Given the description of an element on the screen output the (x, y) to click on. 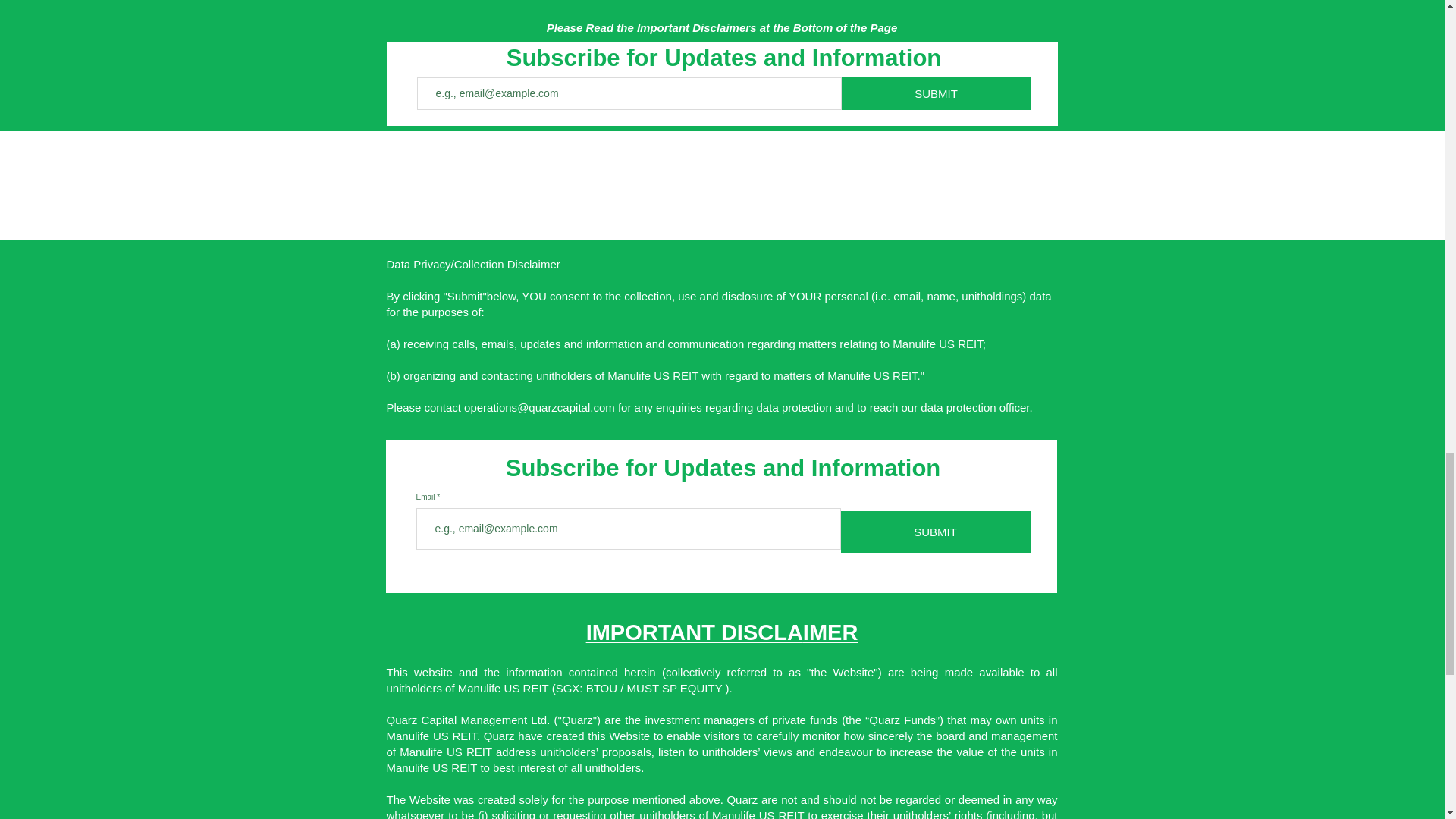
SUBMIT (934, 531)
